Given the description of an element on the screen output the (x, y) to click on. 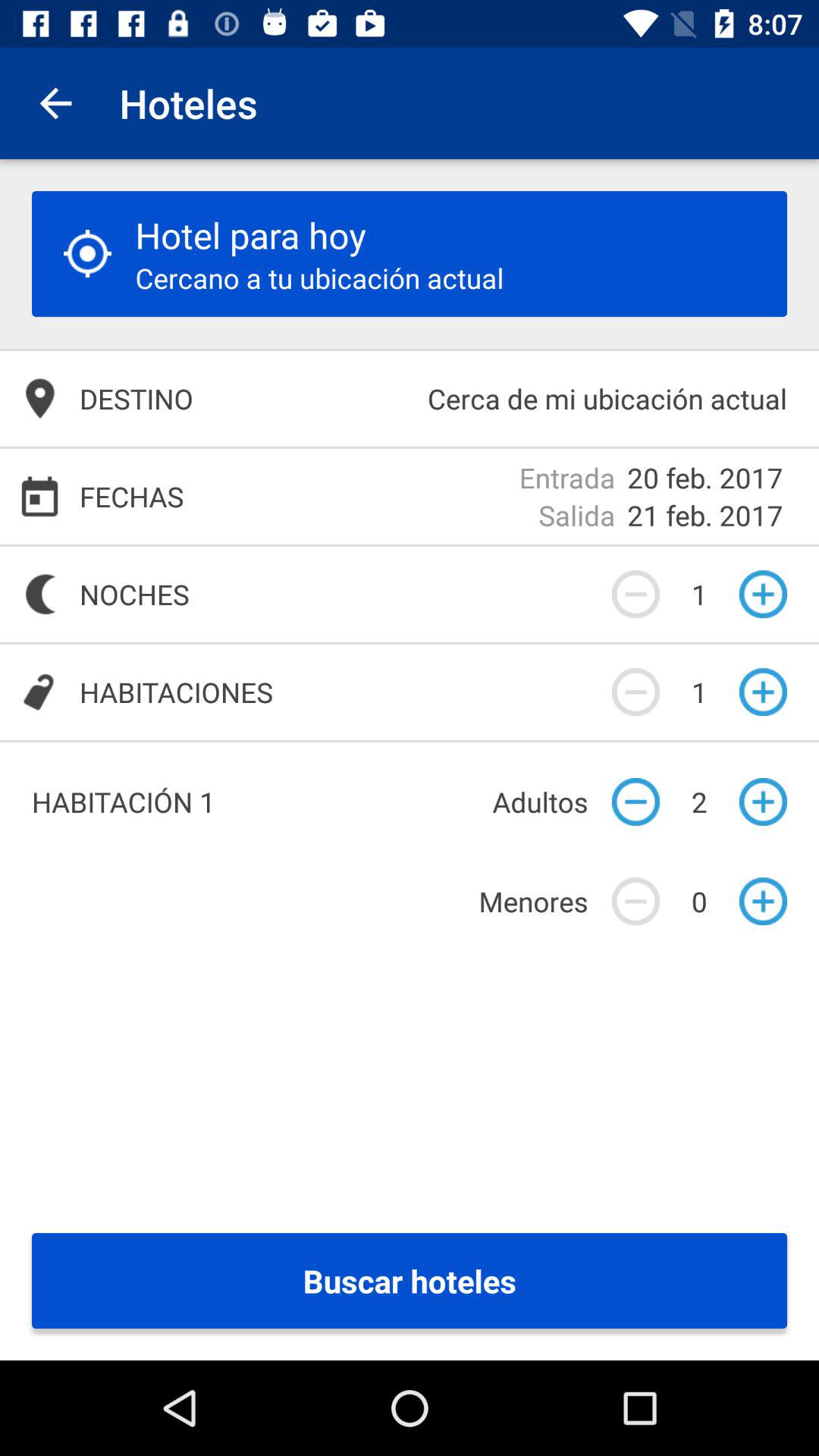
choose the app next to hoteles icon (55, 103)
